Given the description of an element on the screen output the (x, y) to click on. 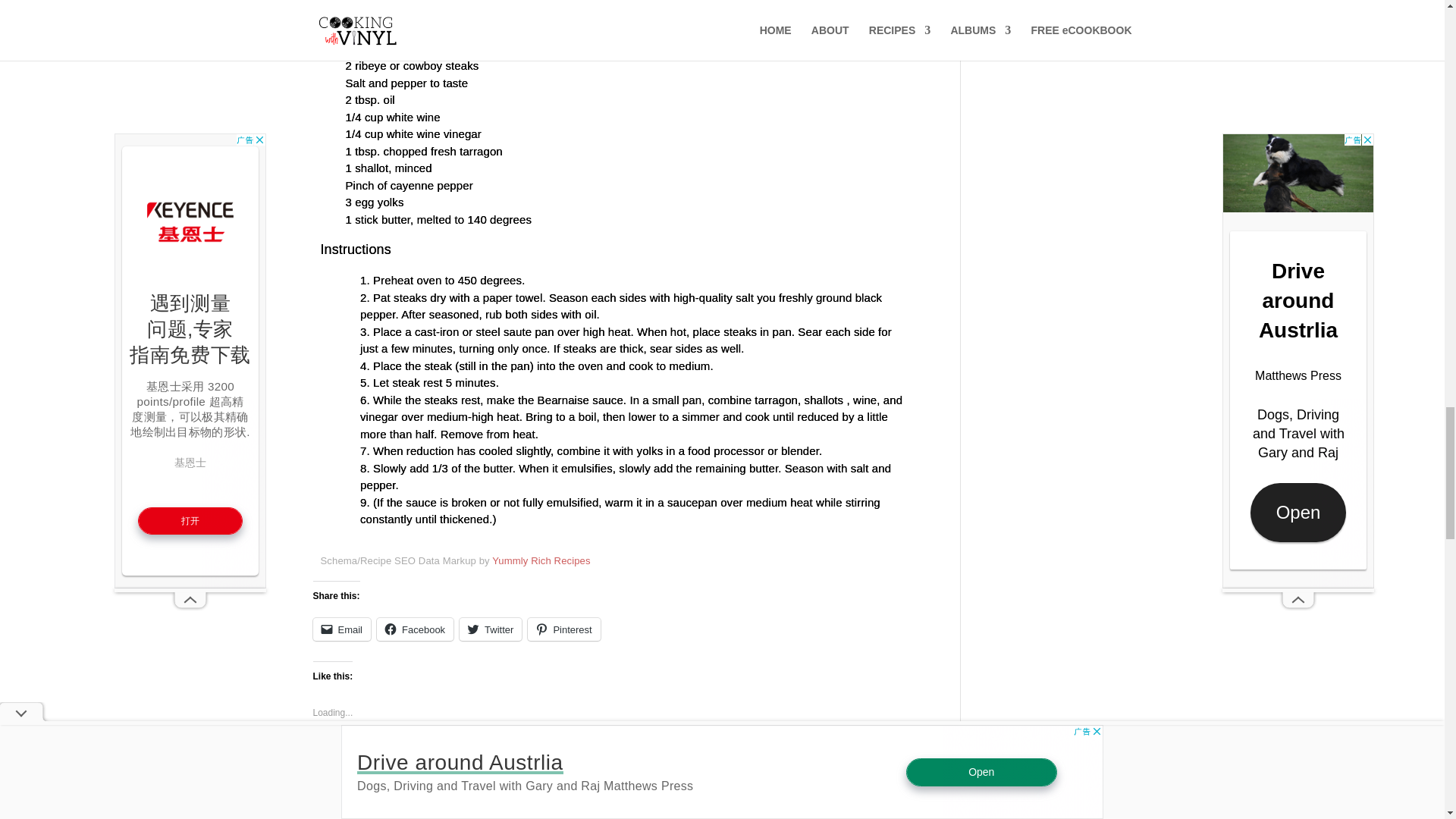
Click to share on Twitter (490, 629)
Click to share on Facebook (414, 629)
Click to email a link to a friend (342, 629)
Click to share on Pinterest (563, 629)
Yummly Rich Recipes (540, 560)
